Given the description of an element on the screen output the (x, y) to click on. 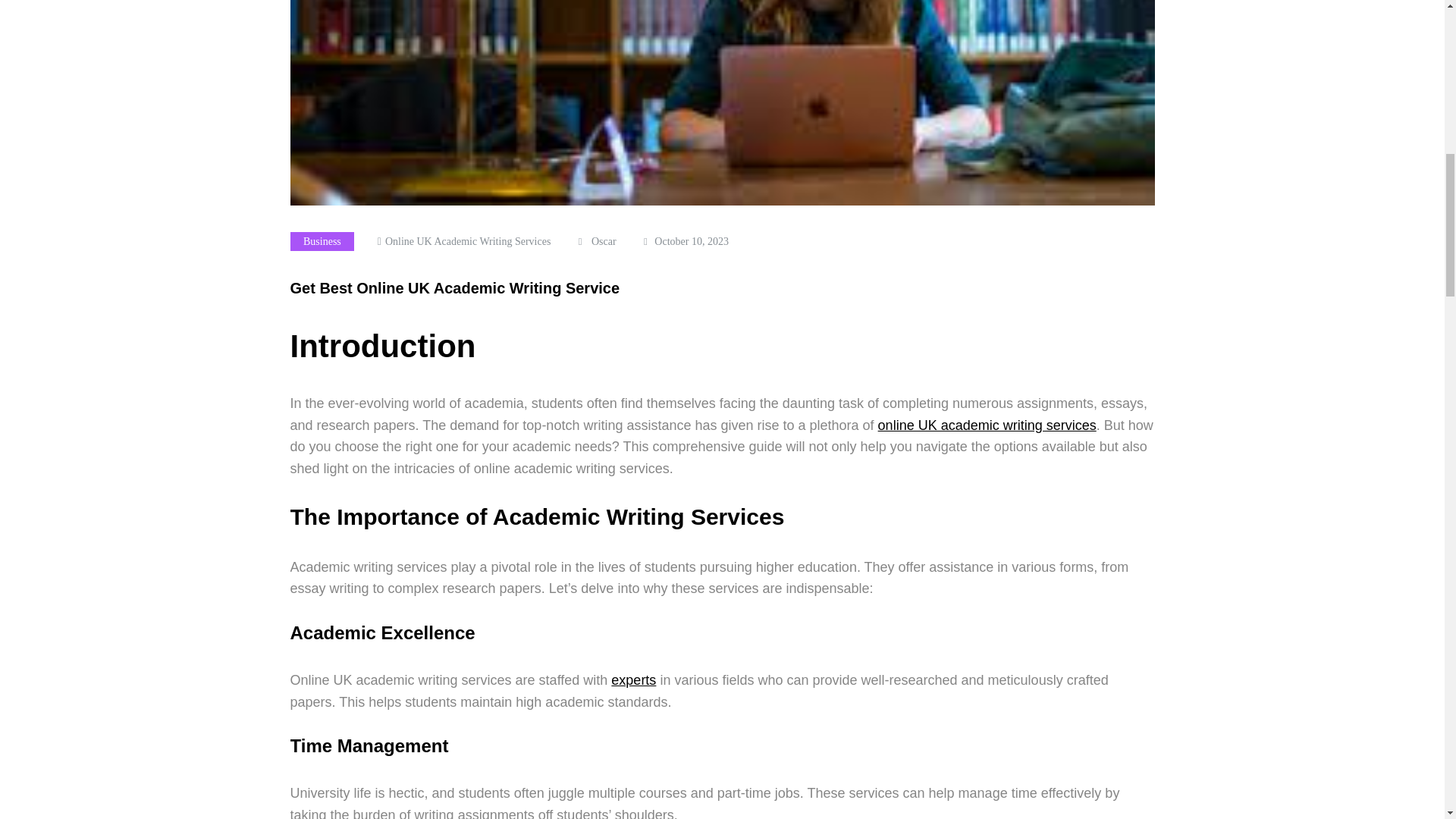
October 10, 2023 (691, 241)
Business (321, 240)
Online UK Academic Writing Services (467, 241)
Oscar (603, 241)
